Given the description of an element on the screen output the (x, y) to click on. 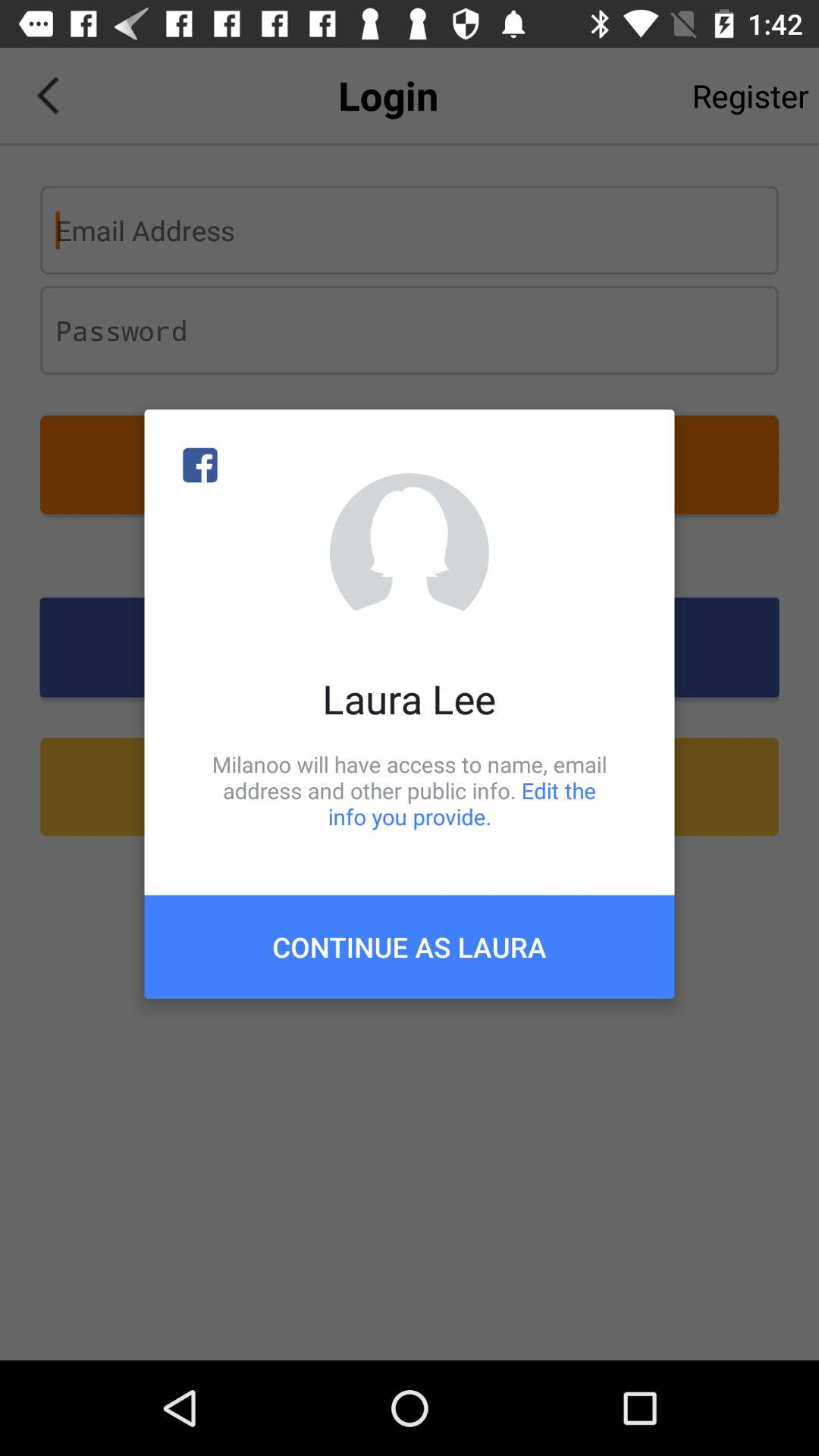
launch item below the milanoo will have (409, 946)
